Given the description of an element on the screen output the (x, y) to click on. 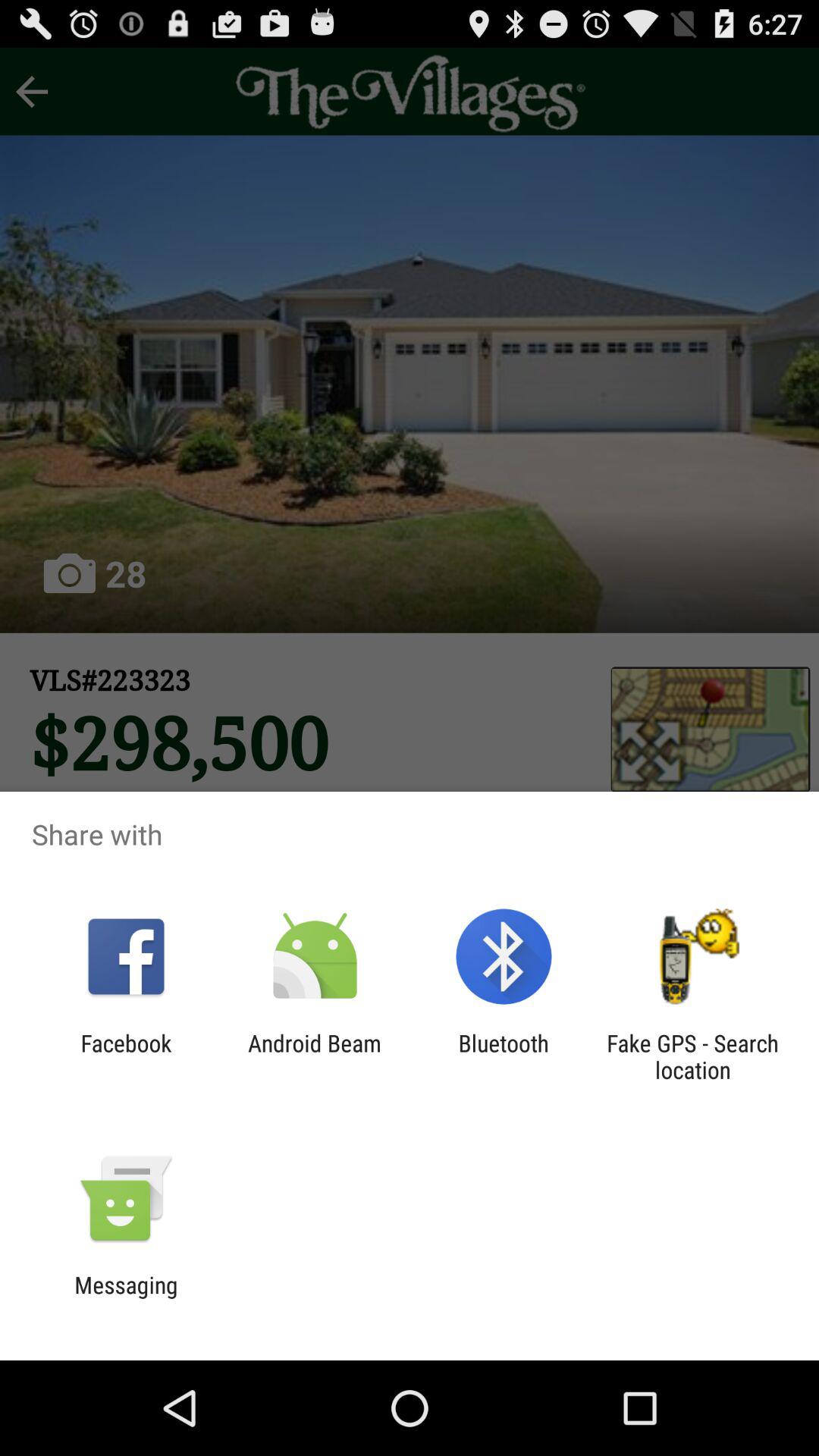
choose the facebook app (125, 1056)
